Given the description of an element on the screen output the (x, y) to click on. 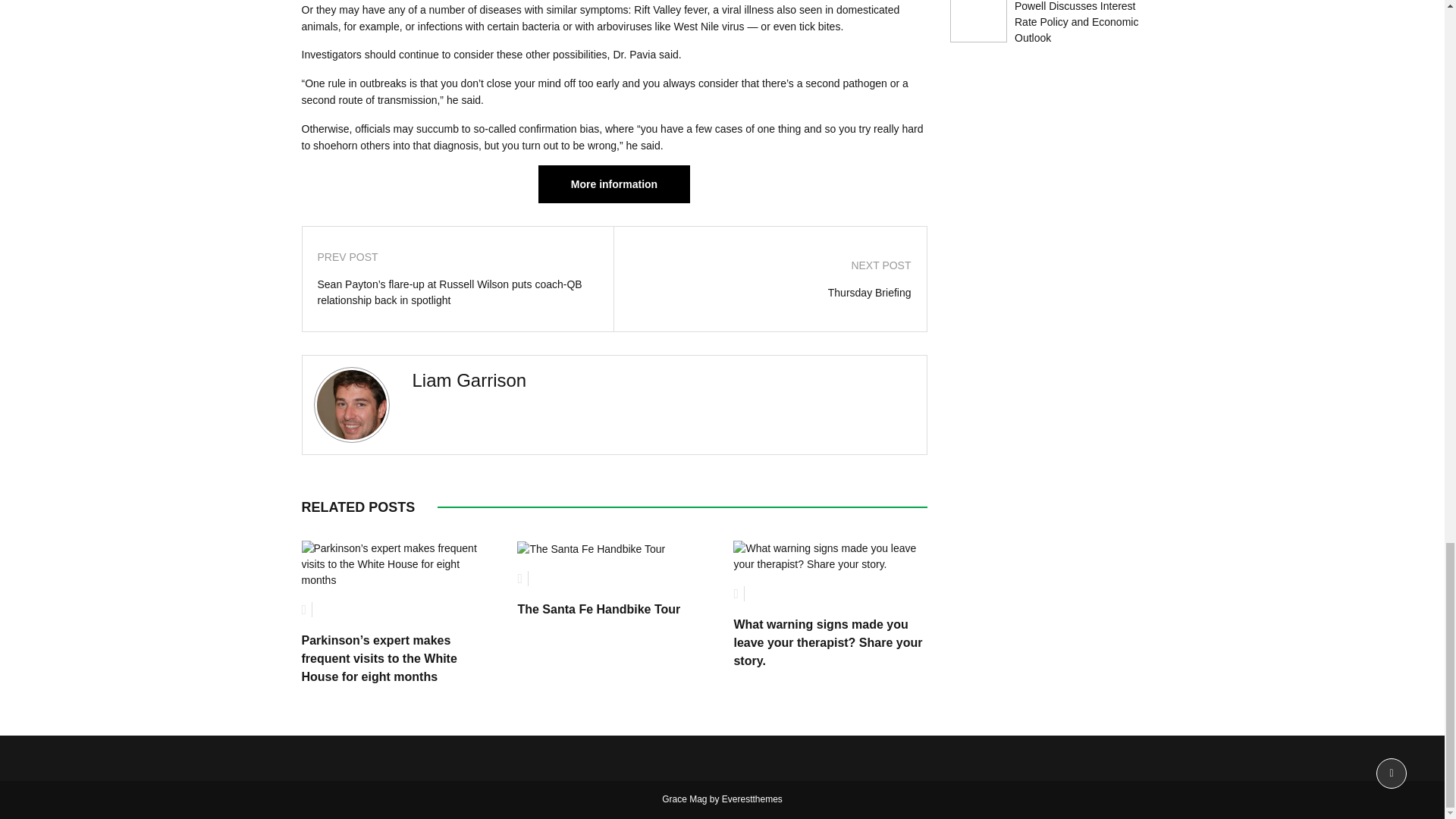
Everestthemes (752, 798)
More information (614, 184)
The Santa Fe Handbike Tour (597, 608)
Thursday Briefing (769, 293)
